Given the description of an element on the screen output the (x, y) to click on. 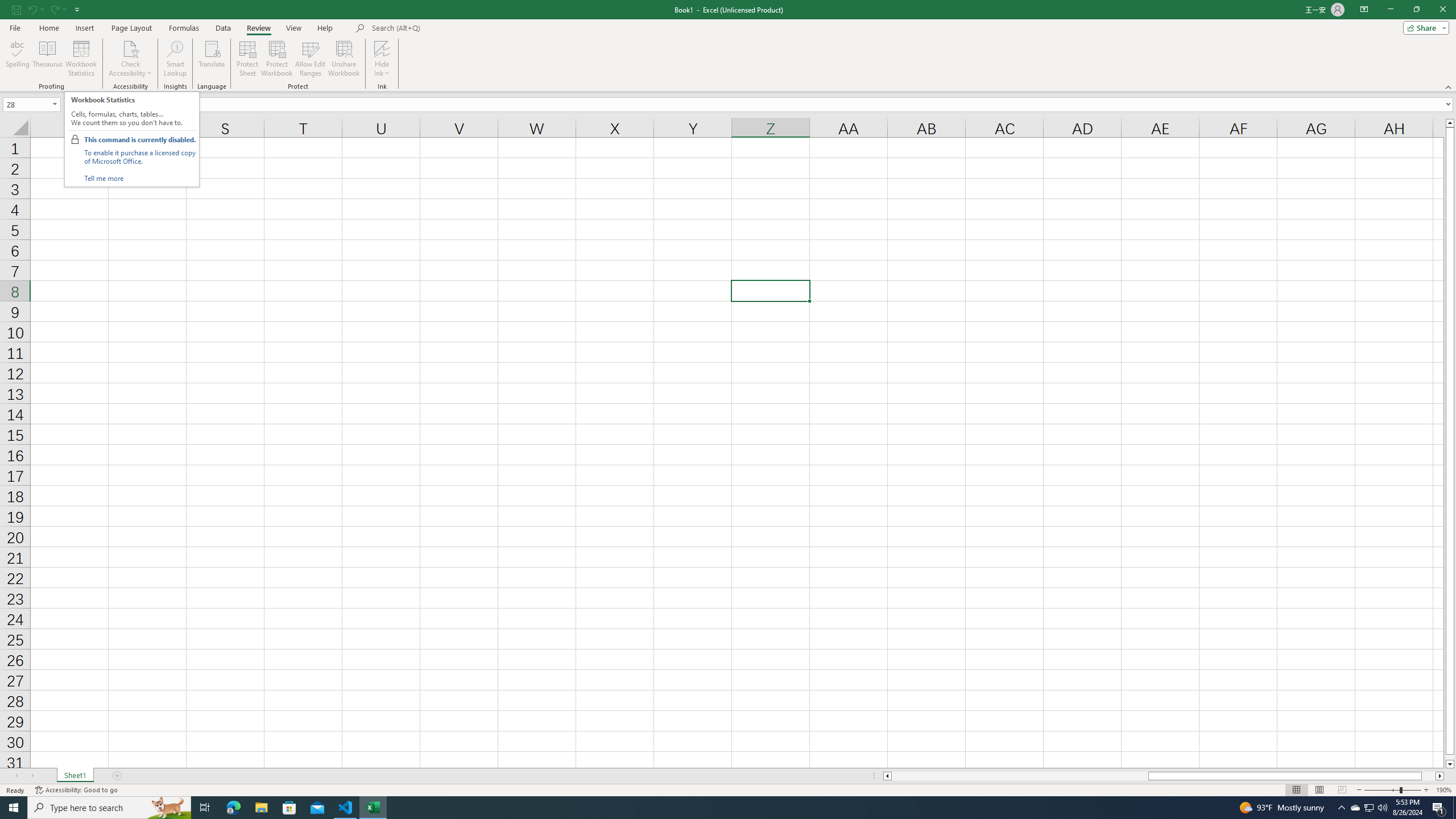
Protect Sheet... (247, 58)
